Given the description of an element on the screen output the (x, y) to click on. 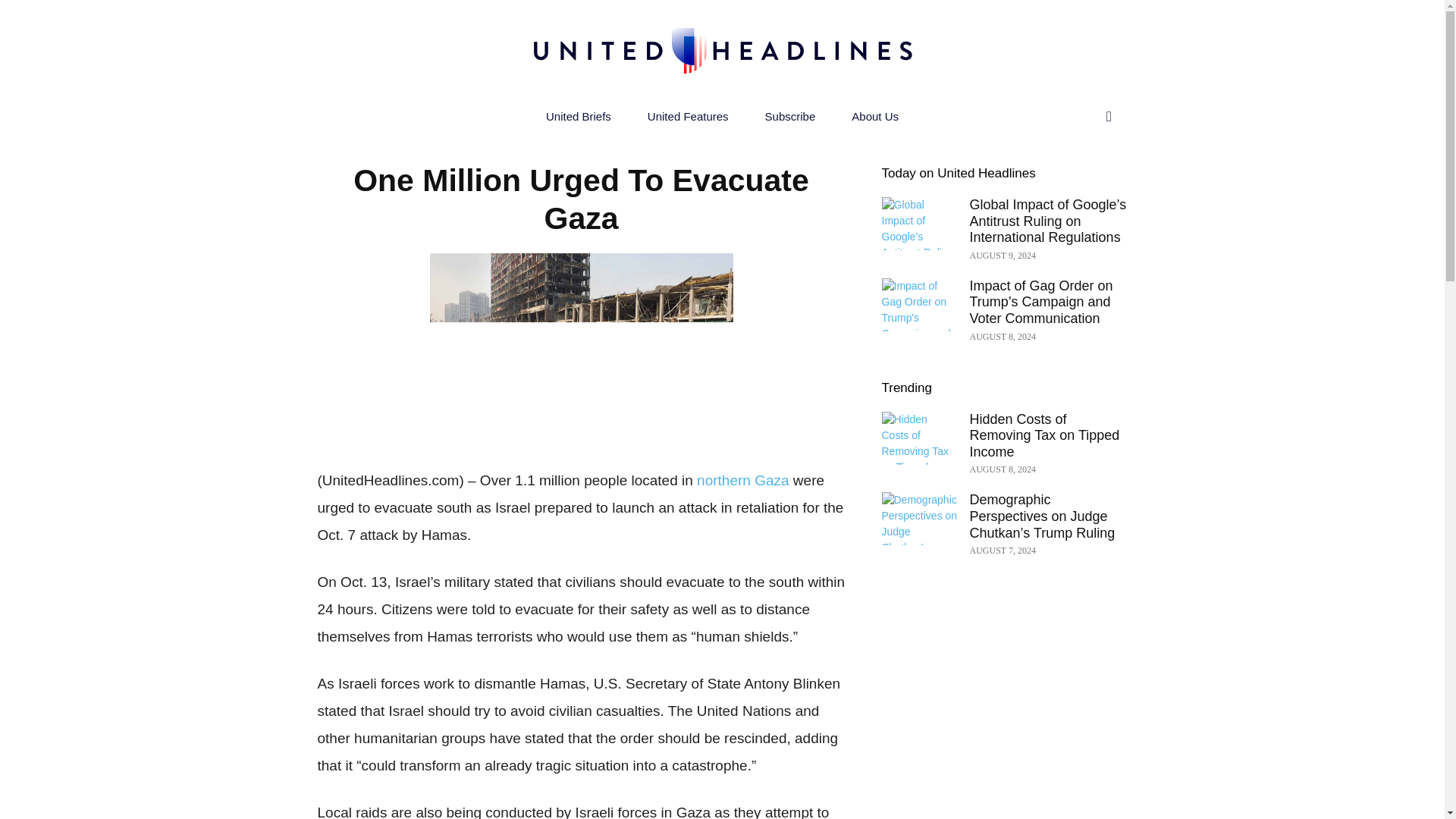
Subscribe (790, 116)
Today on United Headlines (957, 173)
About Us (874, 116)
Search (1077, 177)
United Briefs (577, 116)
United Features (687, 116)
northern Gaza (743, 480)
